Given the description of an element on the screen output the (x, y) to click on. 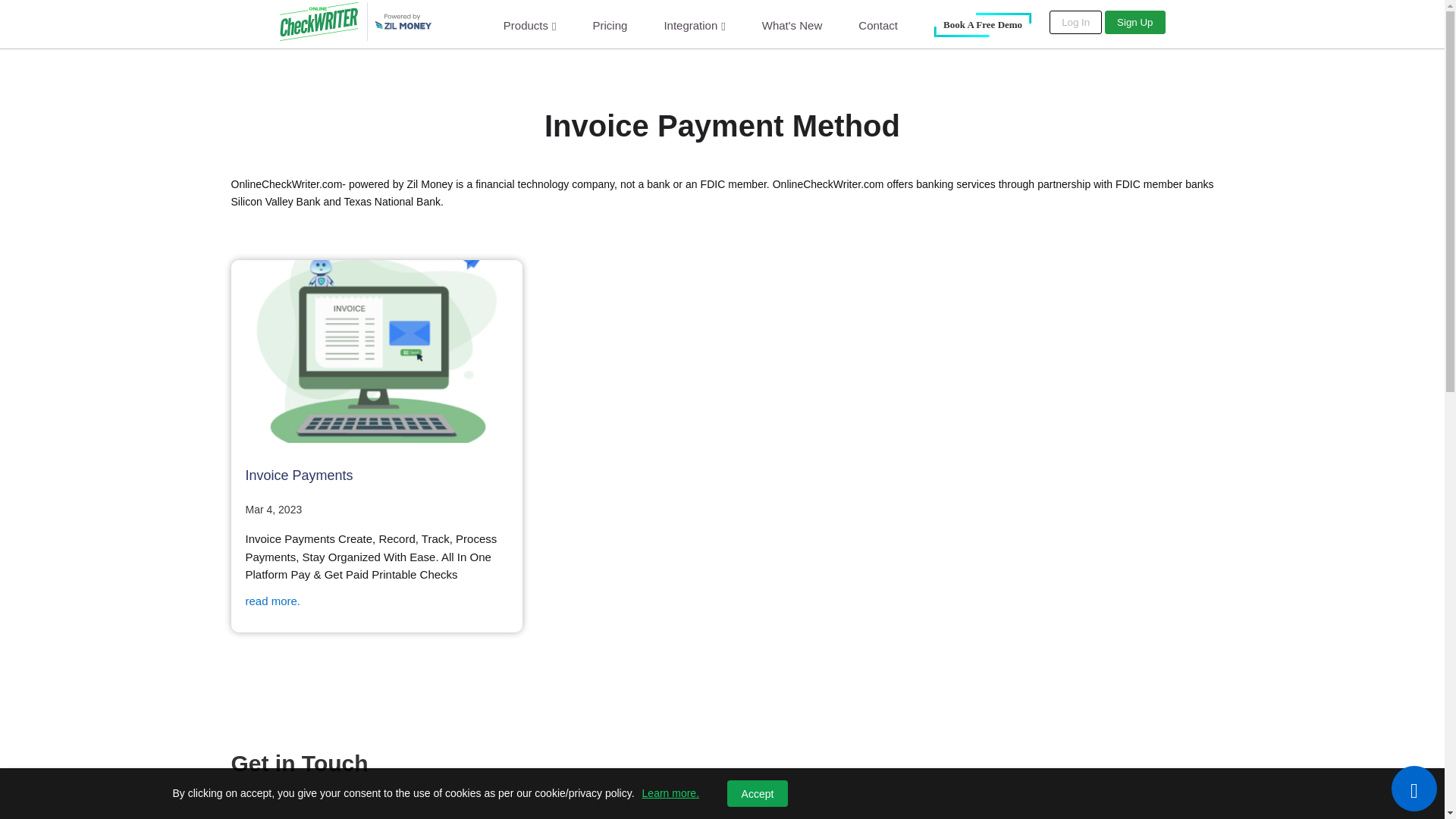
Learn more. (671, 793)
Learn more. (671, 793)
Log In (1075, 22)
Sign Up (1134, 22)
What's New (791, 24)
Accept (756, 793)
Products (529, 25)
Pricing (609, 24)
Integration (694, 25)
Contact (878, 24)
